Given the description of an element on the screen output the (x, y) to click on. 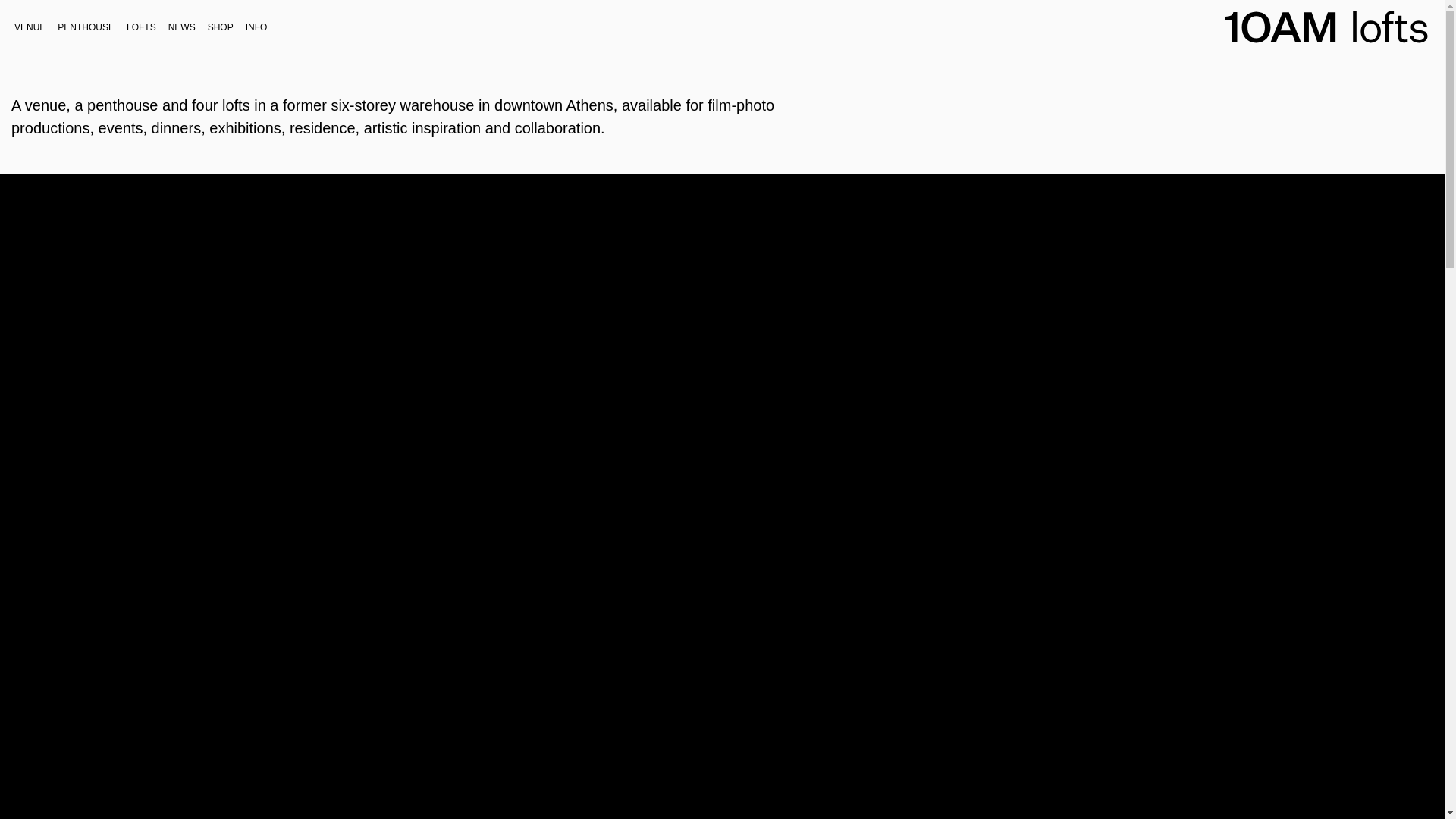
INFO Element type: text (256, 26)
PENTHOUSE Element type: text (85, 26)
LOFTS Element type: text (141, 26)
SHOP Element type: text (220, 26)
VENUE Element type: text (29, 26)
10AM lofts Element type: text (1311, 70)
NEWS Element type: text (181, 26)
